Given the description of an element on the screen output the (x, y) to click on. 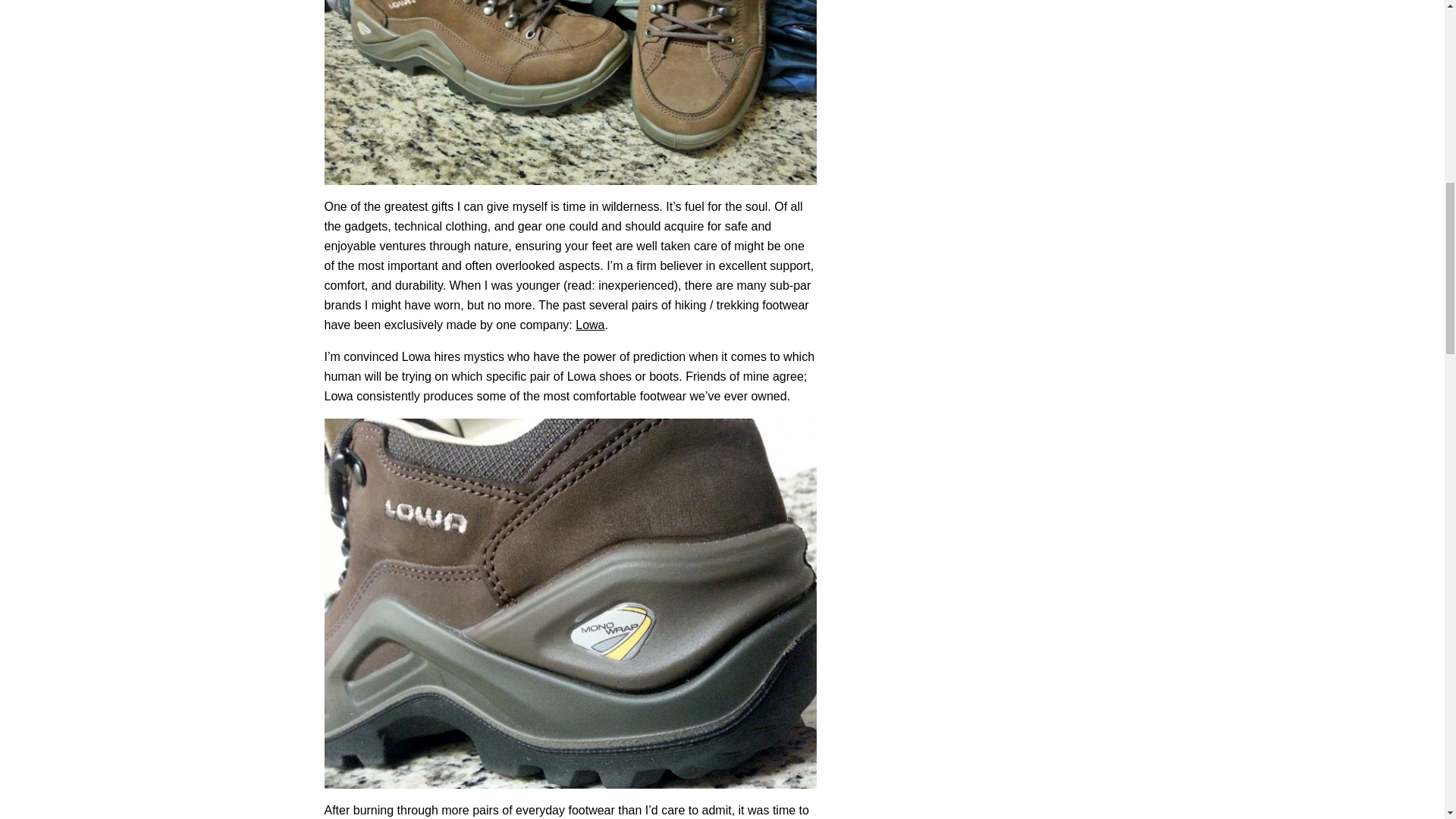
LOWA Renegade II LL Lo - Classic (589, 324)
